Given the description of an element on the screen output the (x, y) to click on. 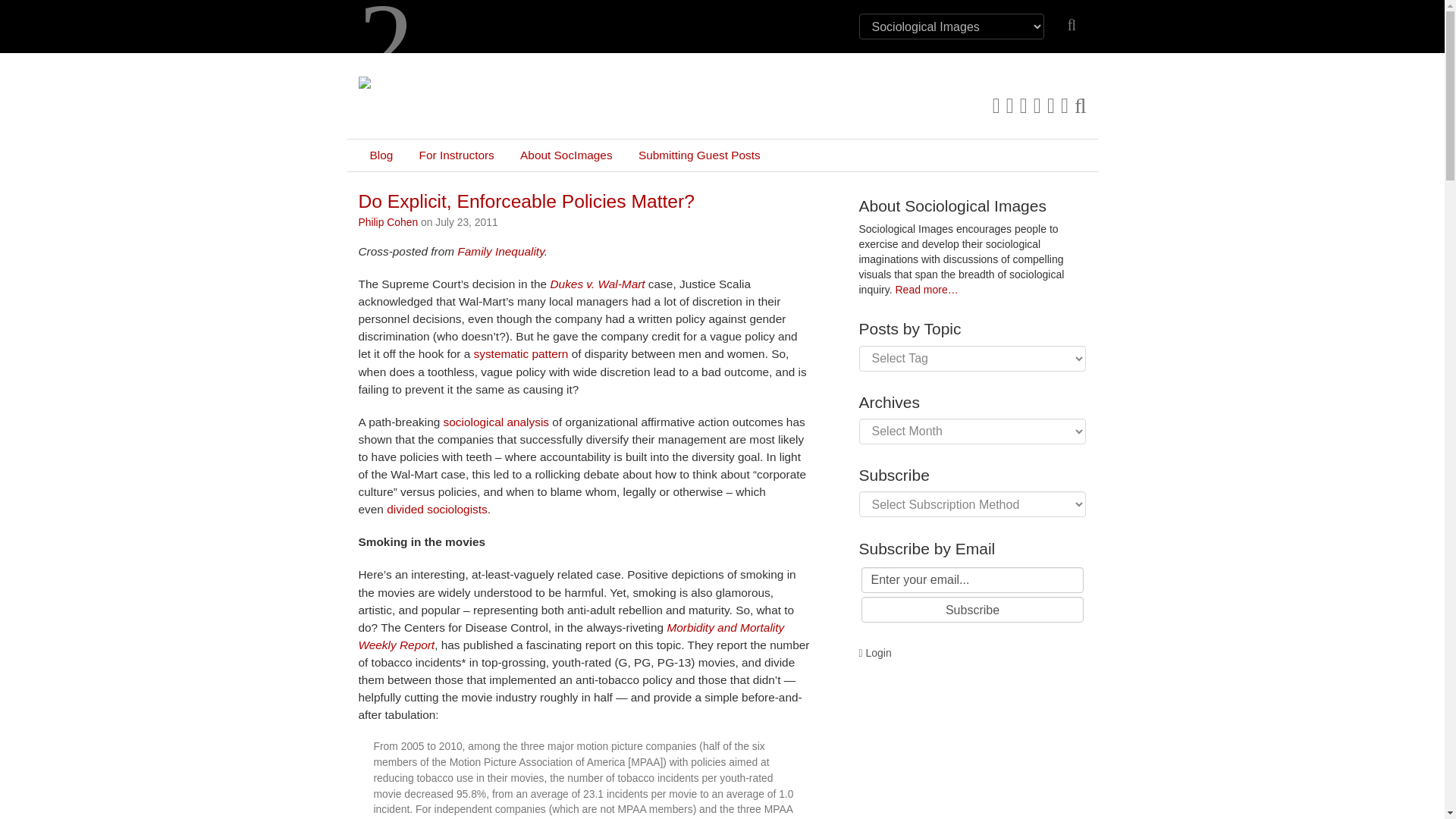
Submitting Guest Posts (699, 155)
Submitting Guest Posts (699, 155)
Dukes v. Wal-Mart (597, 283)
systematic pattern (521, 353)
About SocImages (566, 155)
About SocImages (566, 155)
divided sociologists (437, 508)
sociological analysis (496, 421)
Do Explicit, Enforceable Policies Matter? (526, 200)
Blog (381, 155)
